Given the description of an element on the screen output the (x, y) to click on. 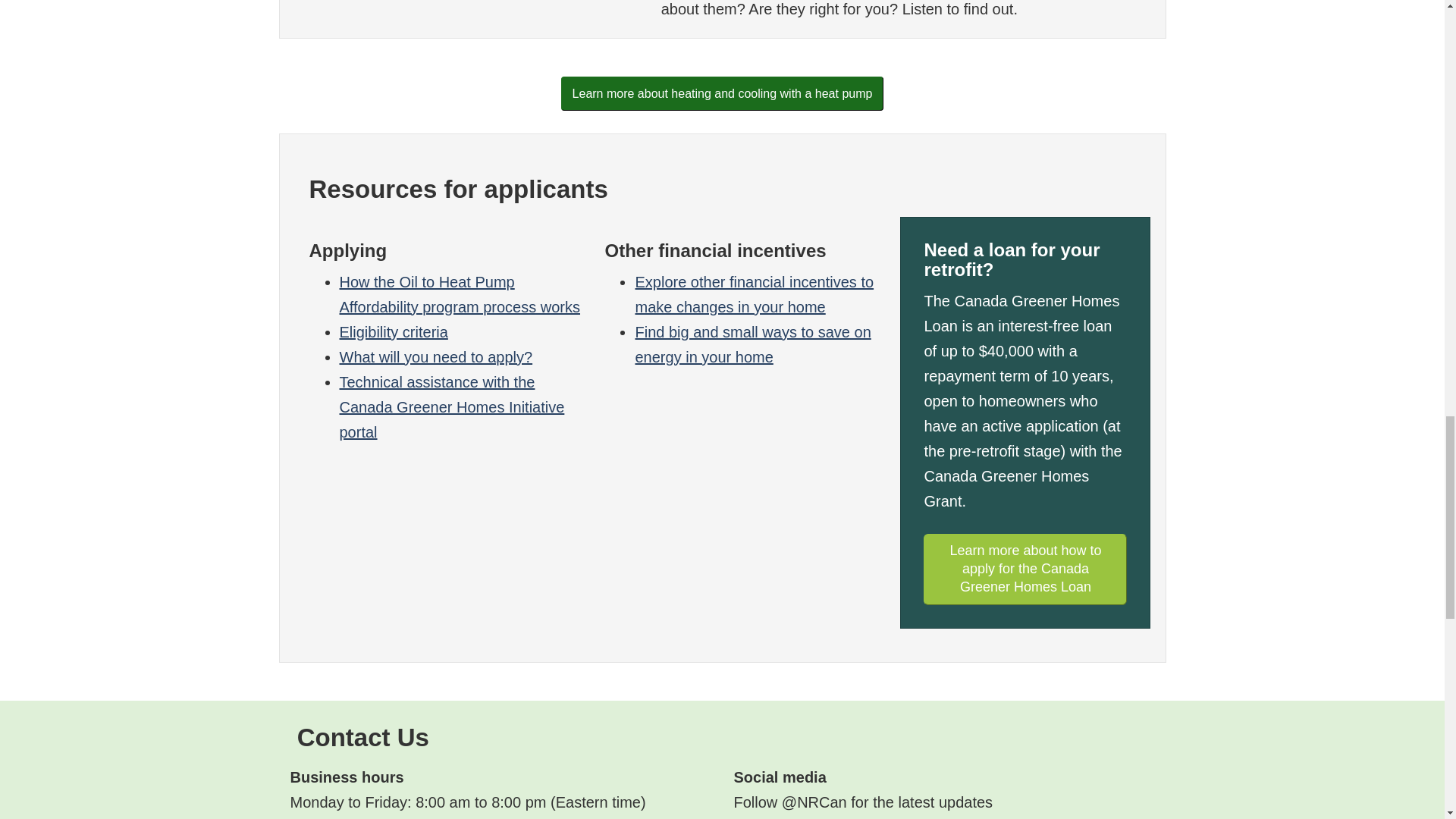
Find big and small ways to save on energy in your home (752, 344)
Learn more about heating and cooling with a heat pump (721, 93)
How the Oil to Heat Pump Affordability program process works (459, 294)
Eligibility criteria (393, 331)
What will you need to apply? (435, 356)
